Given the description of an element on the screen output the (x, y) to click on. 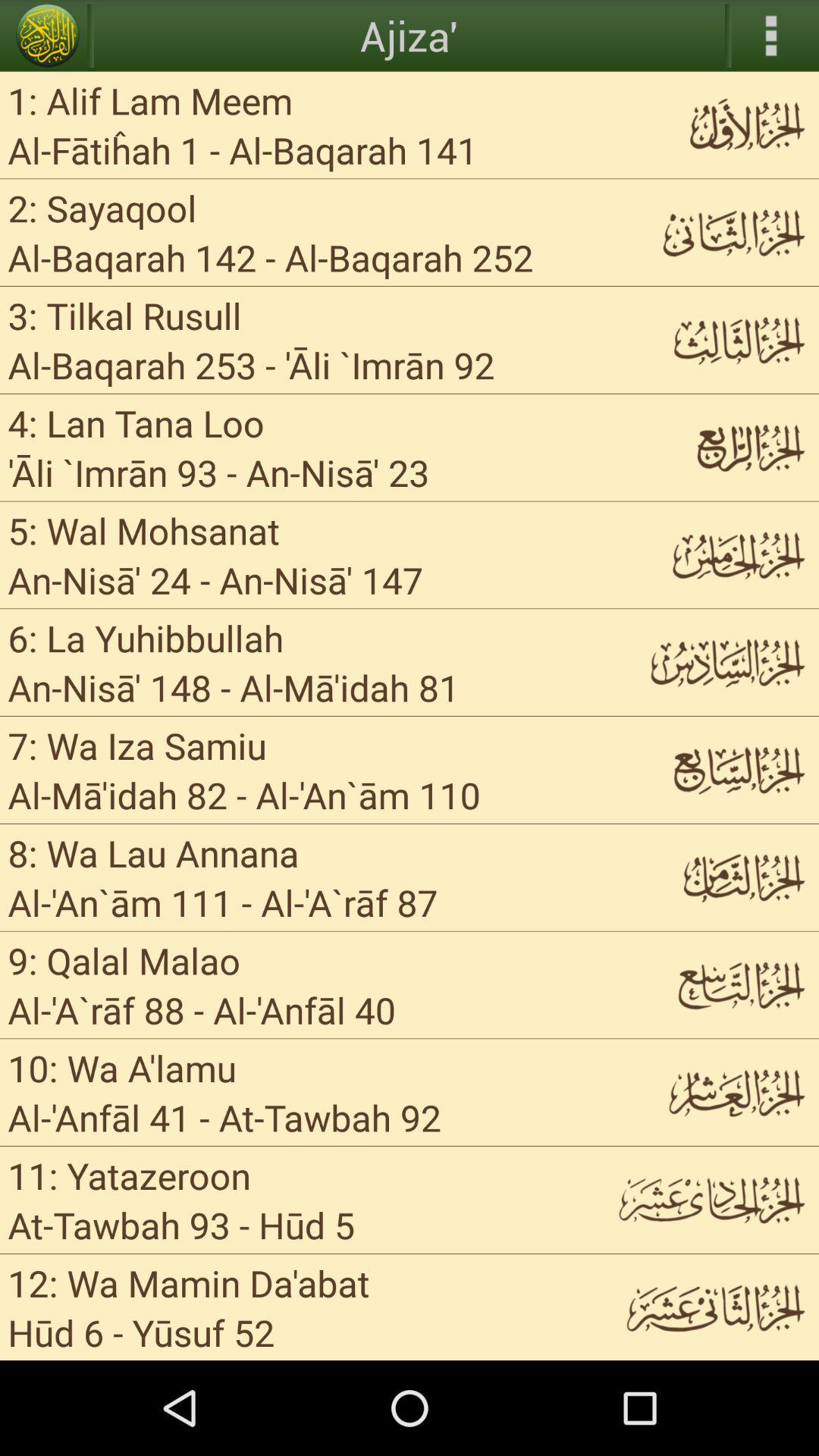
turn on the item below the 12 wa mamin icon (286, 1332)
